Given the description of an element on the screen output the (x, y) to click on. 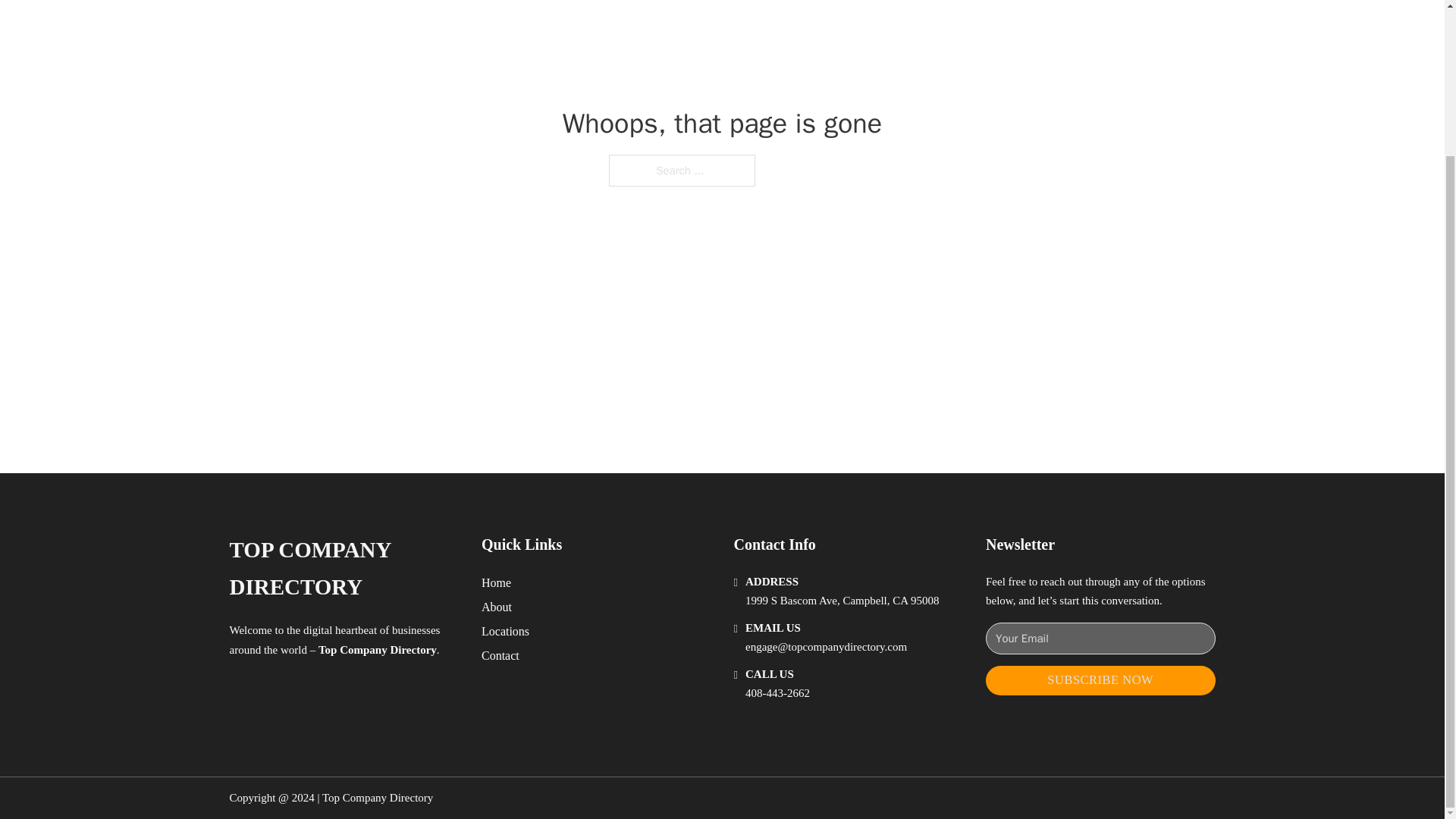
Contact (500, 655)
TOP COMPANY DIRECTORY (343, 568)
About (496, 607)
Locations (505, 630)
SUBSCRIBE NOW (1100, 680)
Home (496, 582)
408-443-2662 (777, 693)
